Given the description of an element on the screen output the (x, y) to click on. 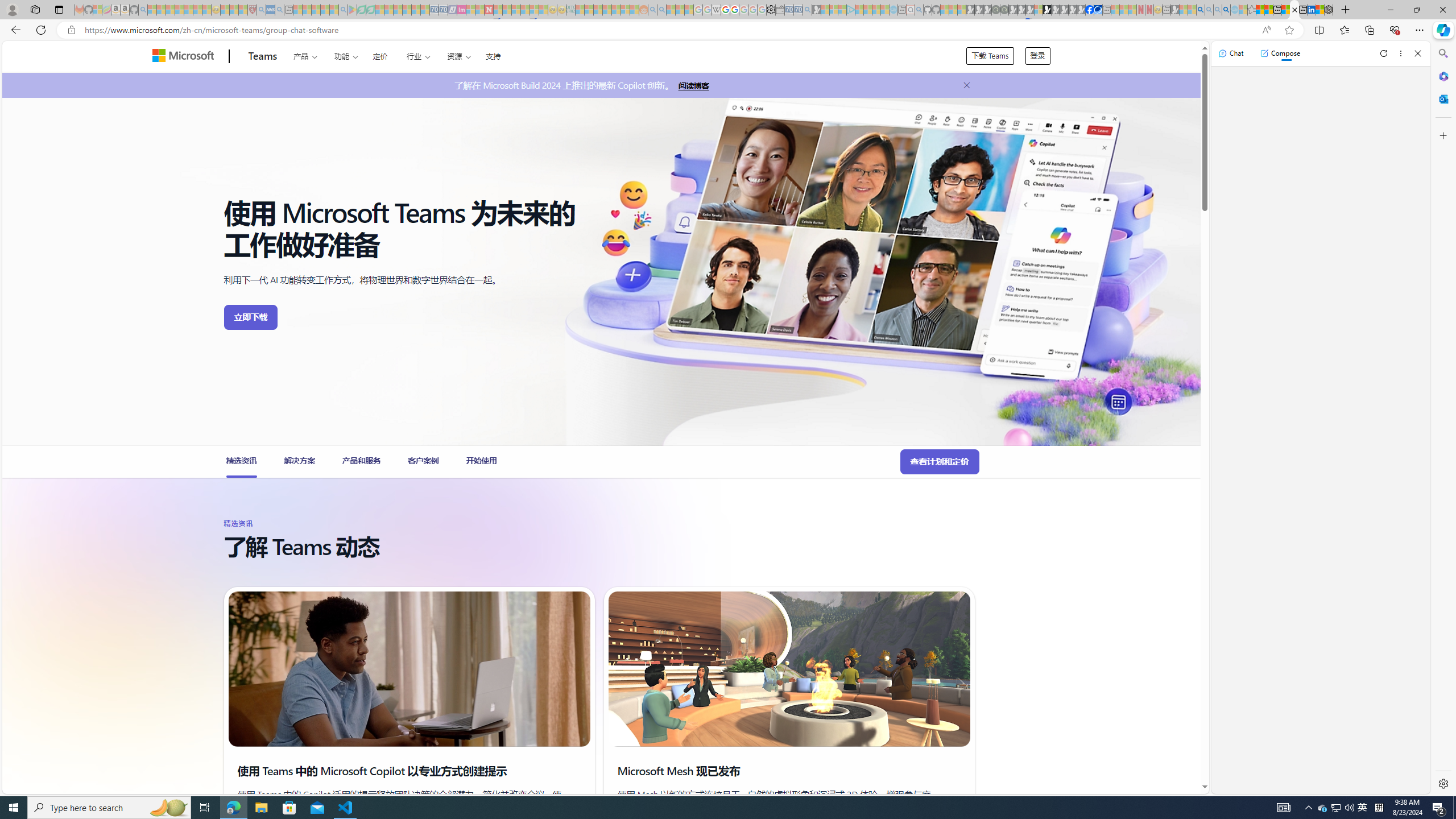
Expert Portfolios - Sleeping (606, 9)
14 Common Myths Debunked By Scientific Facts - Sleeping (506, 9)
Pets - MSN - Sleeping (324, 9)
Future Focus Report 2024 - Sleeping (1004, 9)
